Given the description of an element on the screen output the (x, y) to click on. 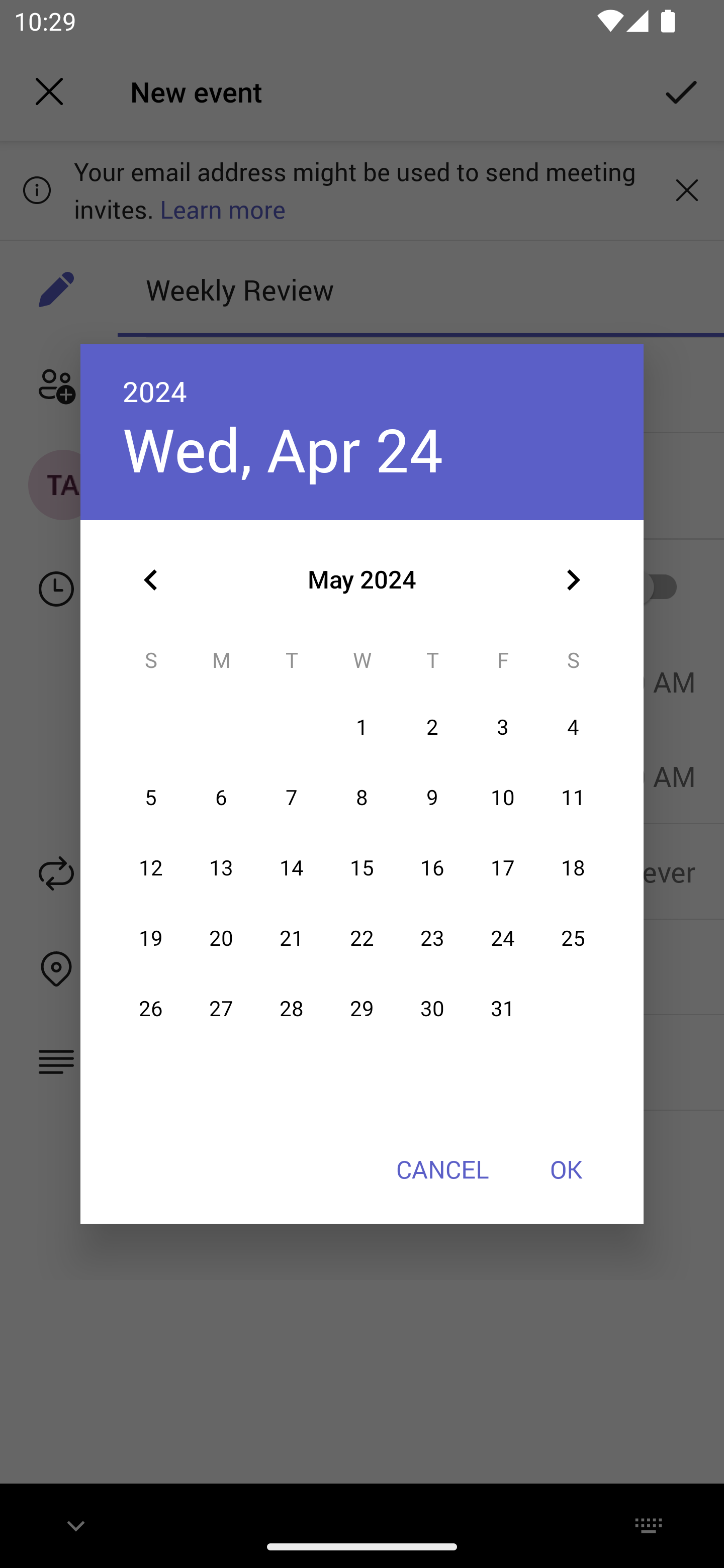
2024 (154, 391)
Wed, Apr 24 (282, 449)
Previous month (150, 579)
Next month (572, 579)
1 01 May 2024 (361, 728)
2 02 May 2024 (432, 728)
3 03 May 2024 (502, 728)
4 04 May 2024 (572, 728)
5 05 May 2024 (150, 797)
6 06 May 2024 (221, 797)
7 07 May 2024 (291, 797)
8 08 May 2024 (361, 797)
9 09 May 2024 (432, 797)
10 10 May 2024 (502, 797)
11 11 May 2024 (572, 797)
12 12 May 2024 (150, 867)
13 13 May 2024 (221, 867)
14 14 May 2024 (291, 867)
15 15 May 2024 (361, 867)
16 16 May 2024 (432, 867)
17 17 May 2024 (502, 867)
18 18 May 2024 (572, 867)
19 19 May 2024 (150, 938)
20 20 May 2024 (221, 938)
21 21 May 2024 (291, 938)
22 22 May 2024 (361, 938)
23 23 May 2024 (432, 938)
24 24 May 2024 (502, 938)
25 25 May 2024 (572, 938)
26 26 May 2024 (150, 1008)
27 27 May 2024 (221, 1008)
28 28 May 2024 (291, 1008)
29 29 May 2024 (361, 1008)
30 30 May 2024 (432, 1008)
31 31 May 2024 (502, 1008)
CANCEL (442, 1168)
OK (565, 1168)
